Given the description of an element on the screen output the (x, y) to click on. 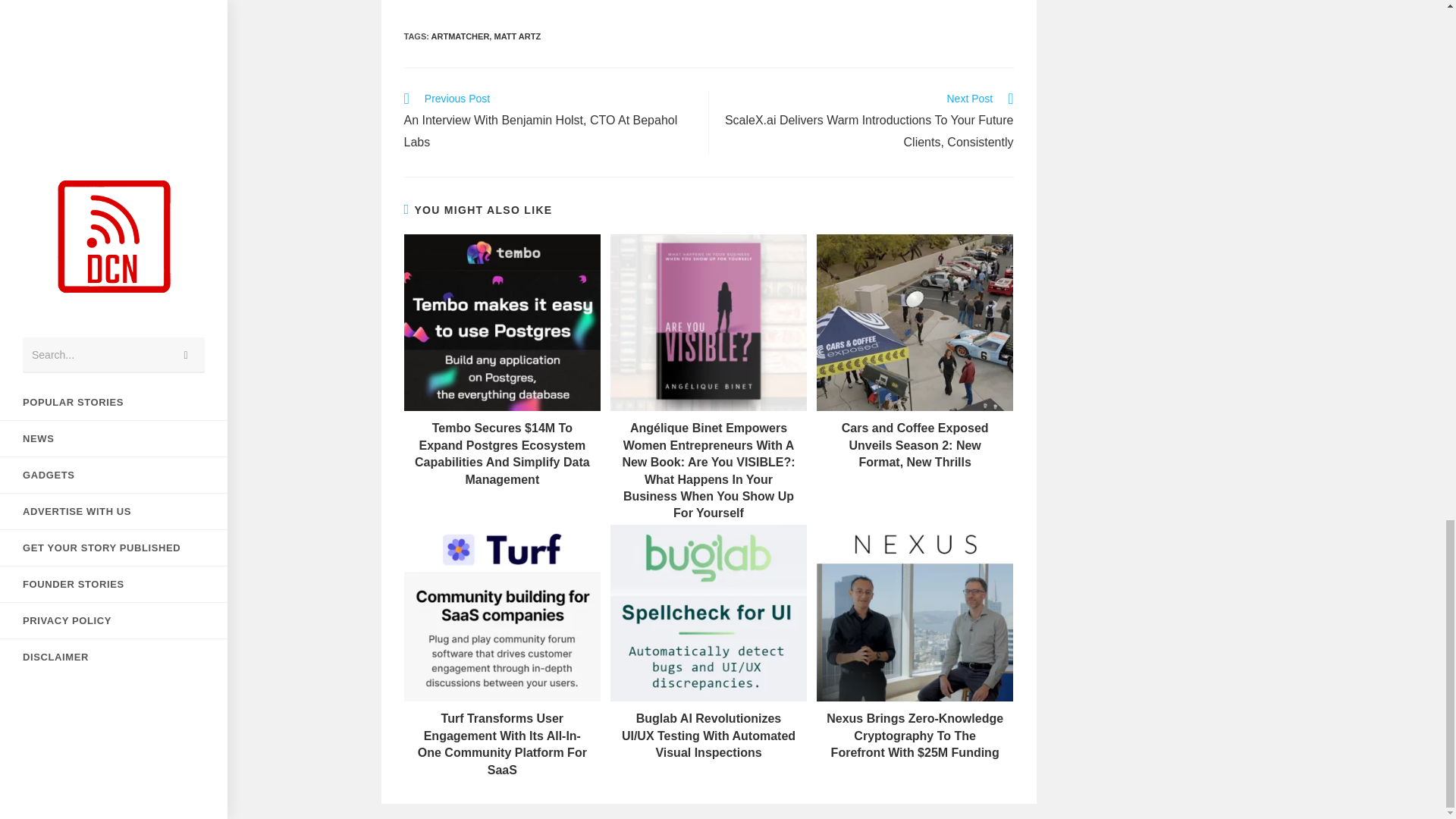
ARTMATCHER (459, 35)
MATT ARTZ (516, 35)
